Given the description of an element on the screen output the (x, y) to click on. 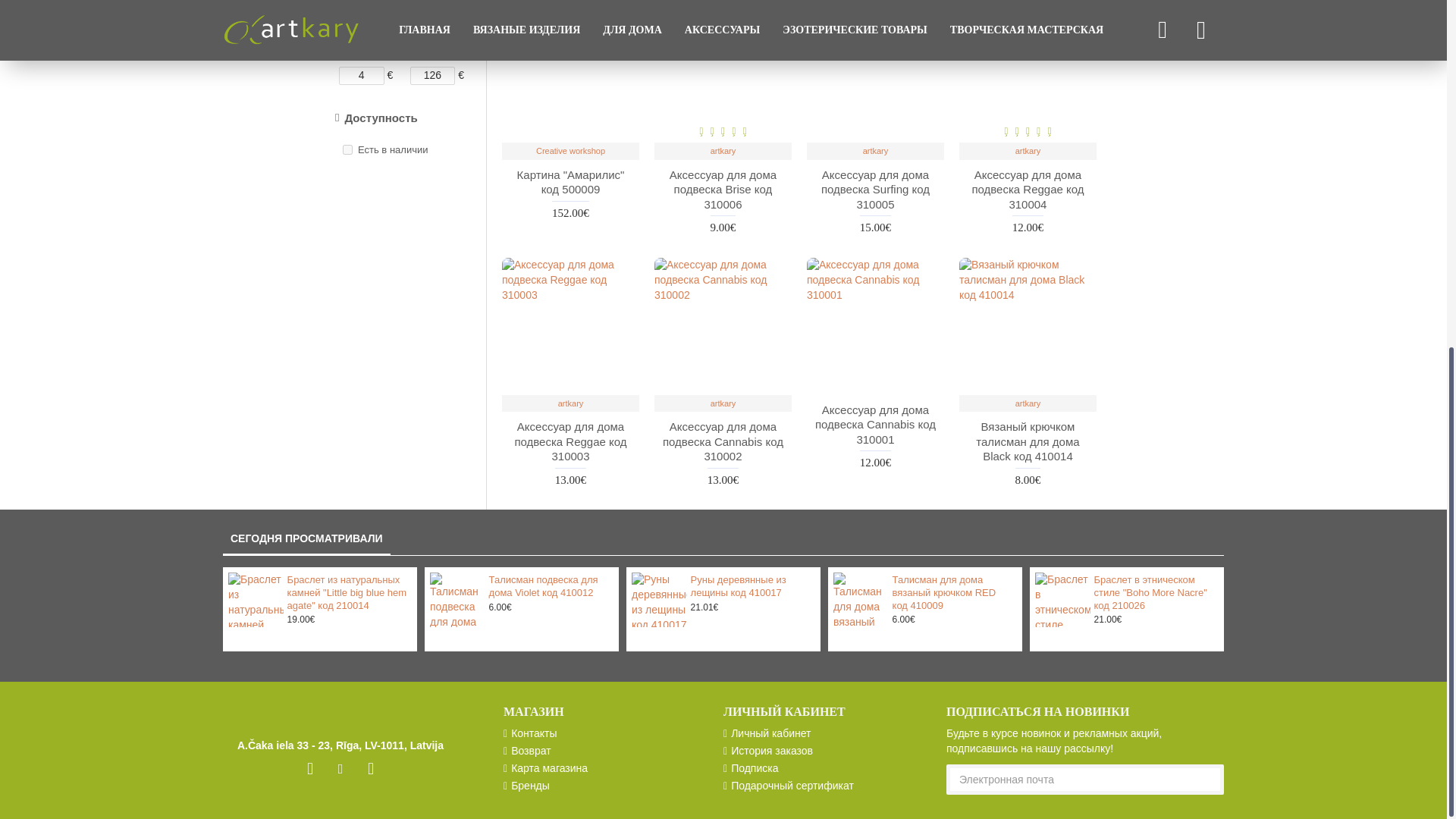
126 (432, 75)
4 (361, 75)
1 (347, 149)
